Given the description of an element on the screen output the (x, y) to click on. 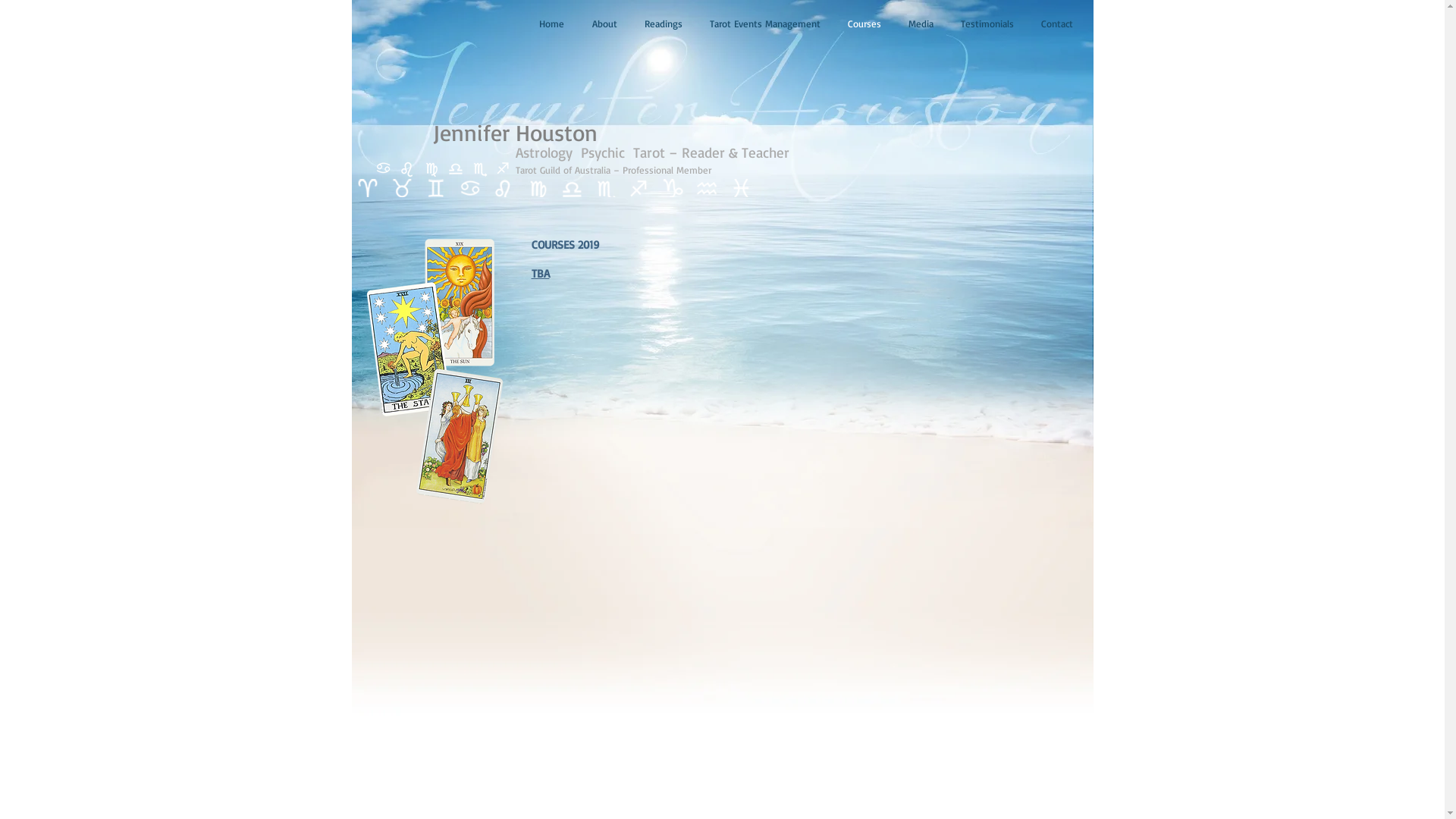
Contact Element type: text (1055, 23)
Media Element type: text (920, 23)
Home Element type: text (550, 23)
About Element type: text (603, 23)
Courses Element type: text (864, 23)
Testimonials Element type: text (986, 23)
Tarot Events Management Element type: hover (435, 370)
Readings Element type: text (663, 23)
Tarot Events Management Element type: text (765, 23)
